Given the description of an element on the screen output the (x, y) to click on. 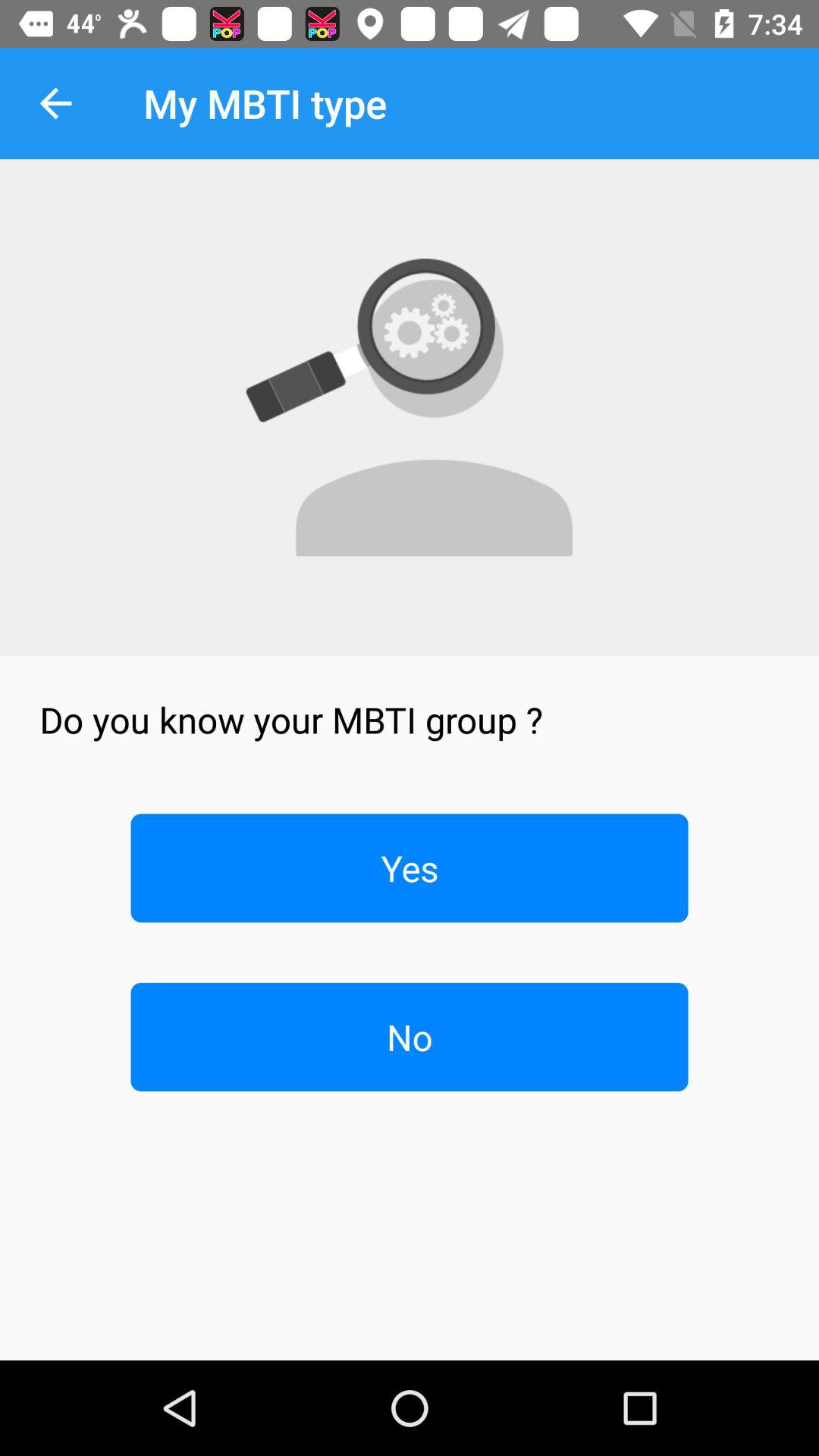
turn off icon next to my mbti type item (55, 103)
